Given the description of an element on the screen output the (x, y) to click on. 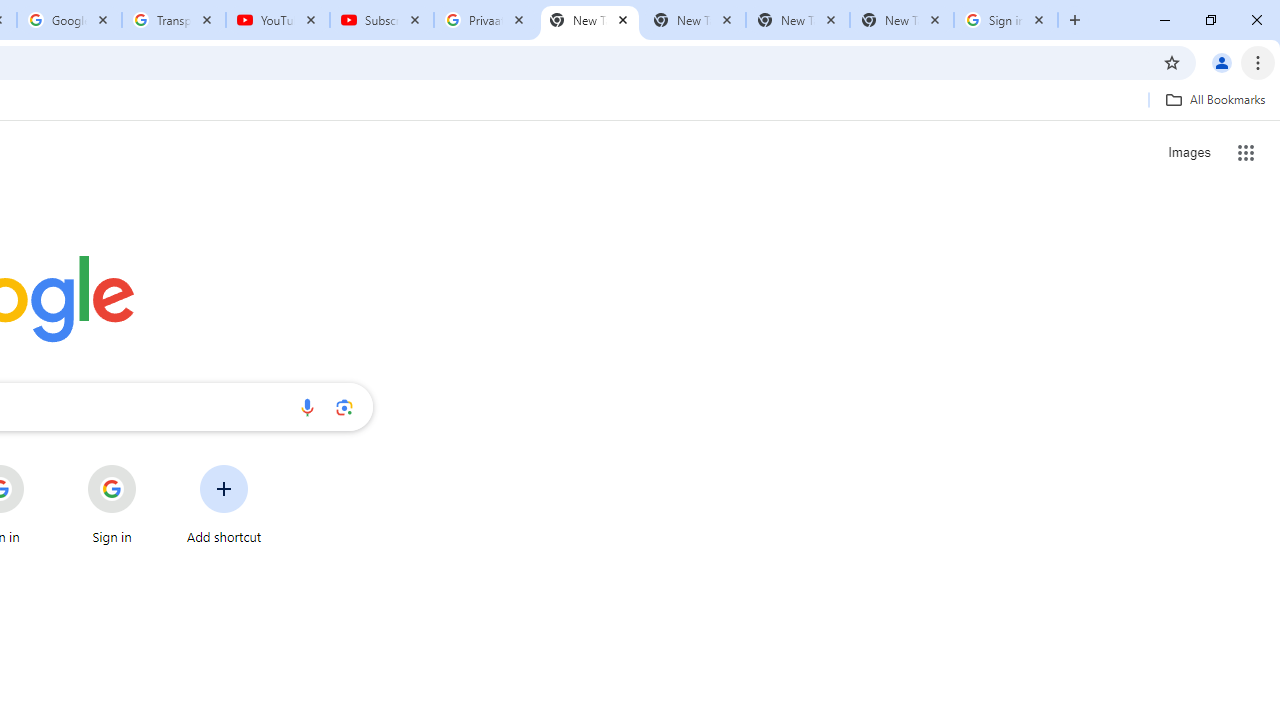
New Tab (901, 20)
More actions for Sign in shortcut (152, 466)
YouTube (278, 20)
New Tab (589, 20)
Subscriptions - YouTube (381, 20)
Sign in - Google Accounts (1005, 20)
